Given the description of an element on the screen output the (x, y) to click on. 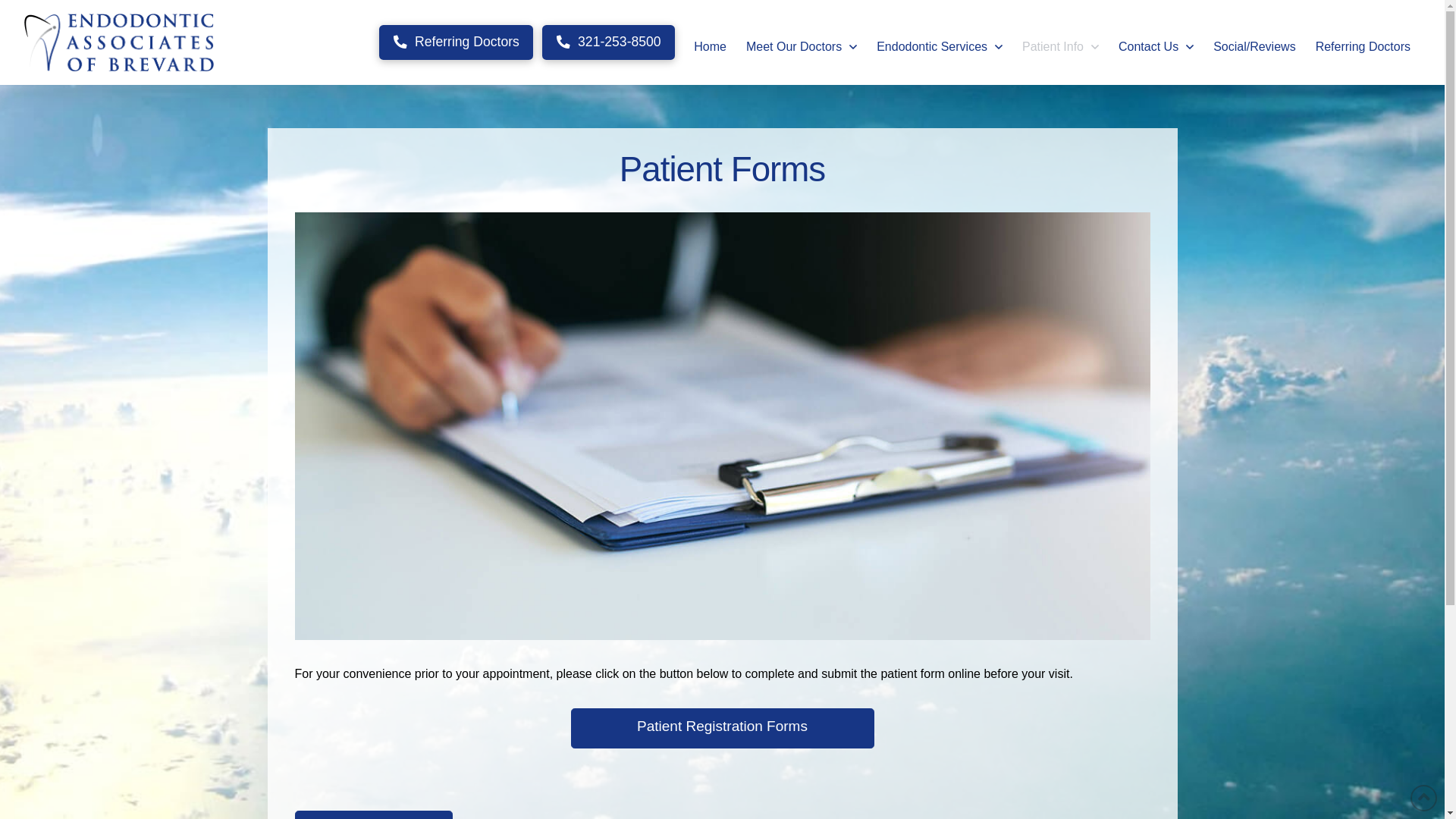
Back to Top Element type: hover (1423, 797)
Contact Us Element type: text (1155, 42)
Patient Registration Forms Element type: text (721, 728)
Social/Reviews Element type: text (1254, 42)
Meet Our Doctors Element type: text (801, 42)
Patient Info Element type: text (1060, 42)
Endodontic Services Element type: text (939, 42)
Referring Doctors Element type: text (456, 42)
Referring Doctors Element type: text (1362, 42)
Home Element type: text (710, 42)
321-253-8500 Element type: text (608, 42)
